Given the description of an element on the screen output the (x, y) to click on. 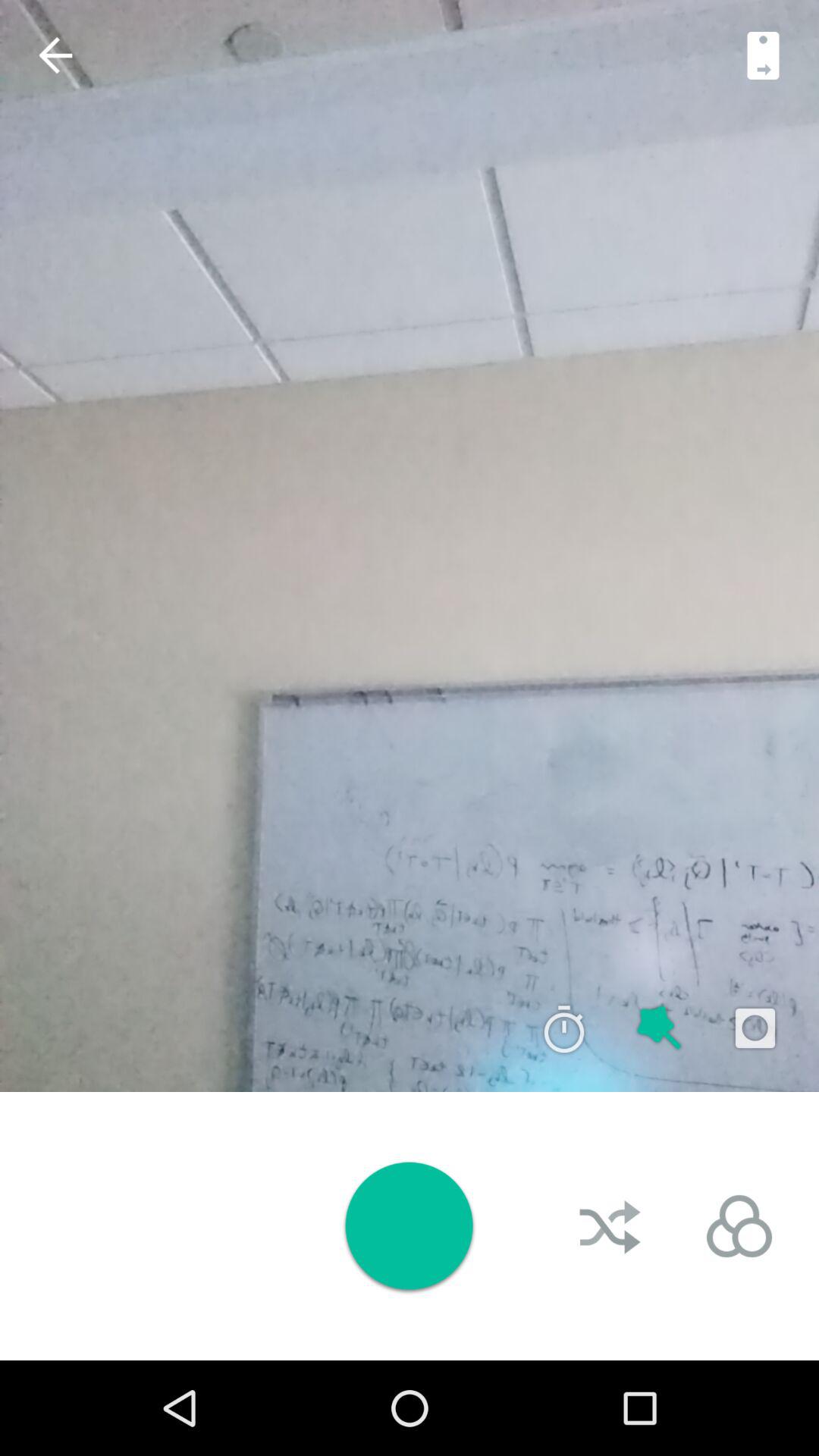
switch camera (763, 55)
